Given the description of an element on the screen output the (x, y) to click on. 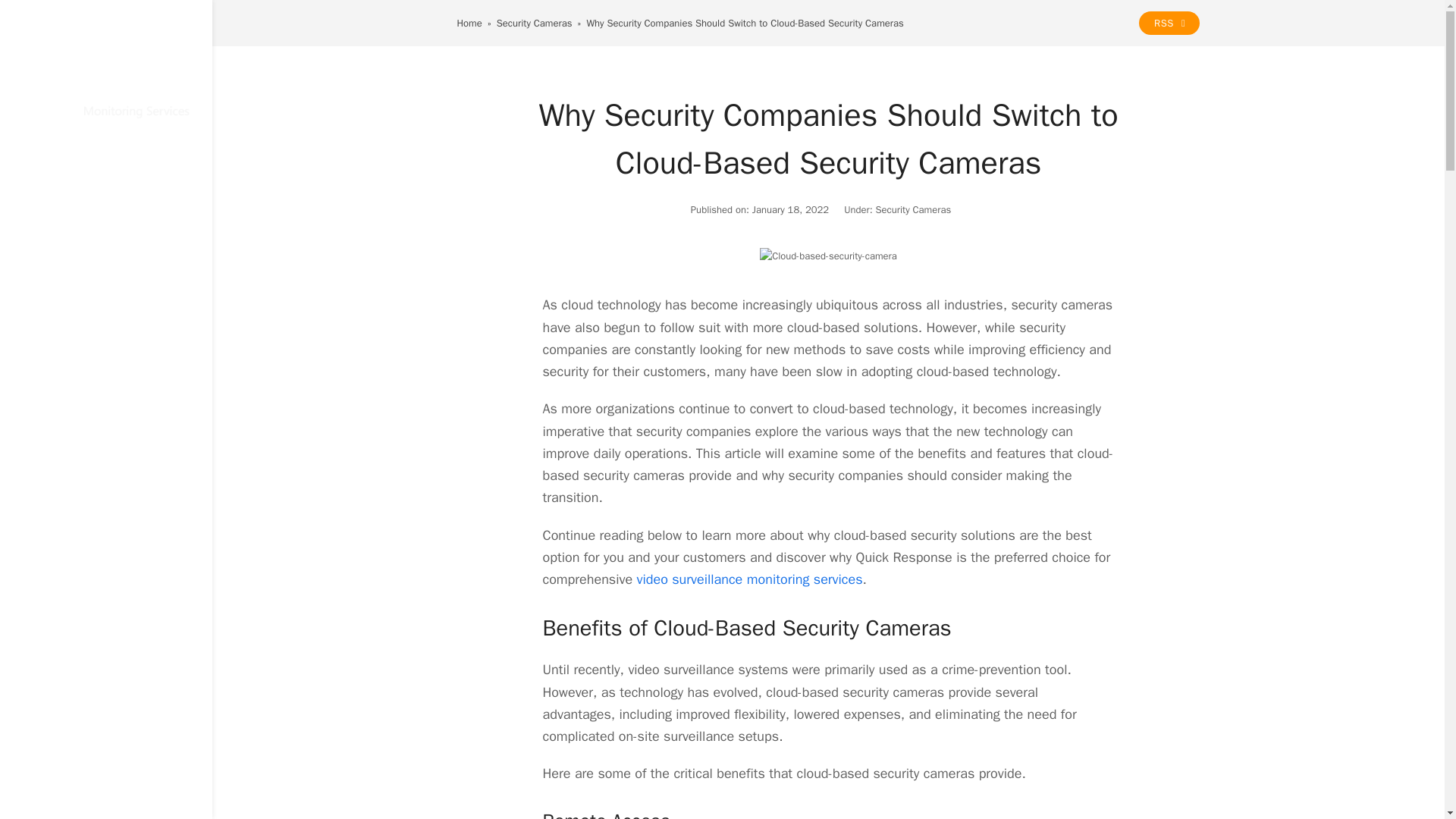
video surveillance monitoring services (750, 579)
Security Cameras (534, 22)
Contact Us (106, 420)
Home (106, 164)
Blog (106, 346)
Business Solutions (106, 237)
Login (106, 456)
Security Cameras (912, 209)
Home (469, 22)
About Us (106, 382)
